Given the description of an element on the screen output the (x, y) to click on. 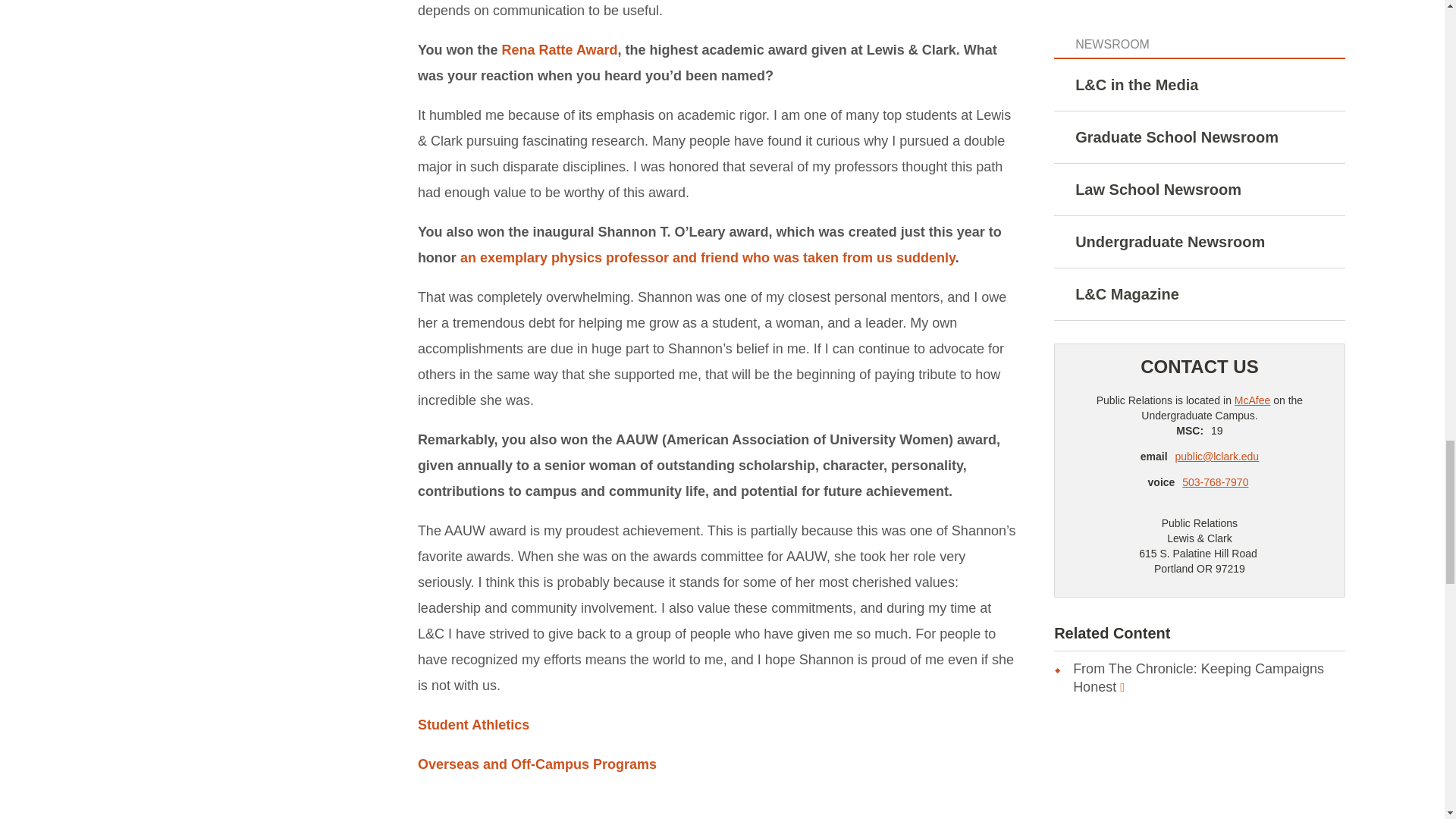
Rena Ratte Award (559, 49)
Student Athletics (473, 724)
